Given the description of an element on the screen output the (x, y) to click on. 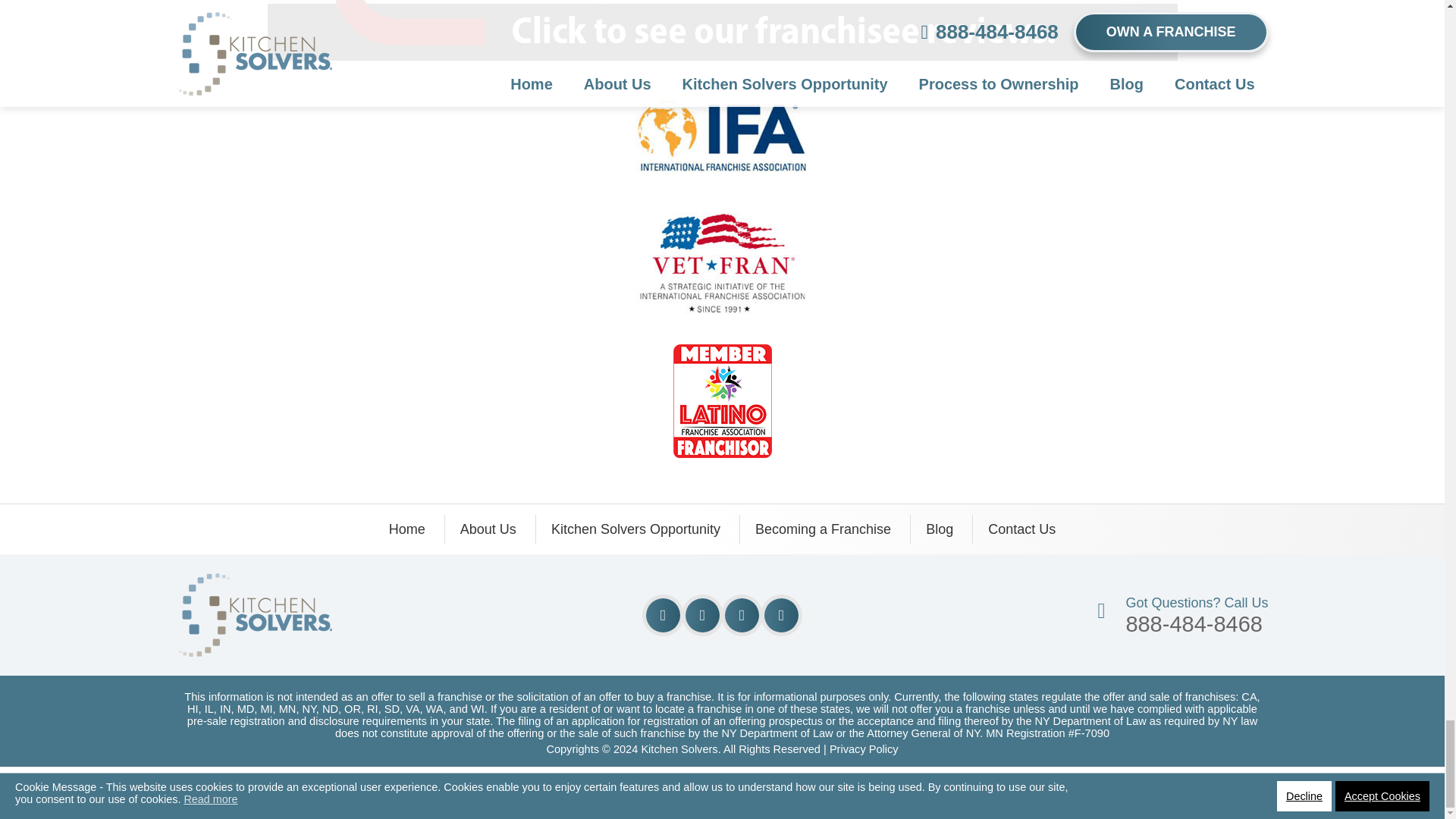
Kitchen Solvers (253, 583)
